Given the description of an element on the screen output the (x, y) to click on. 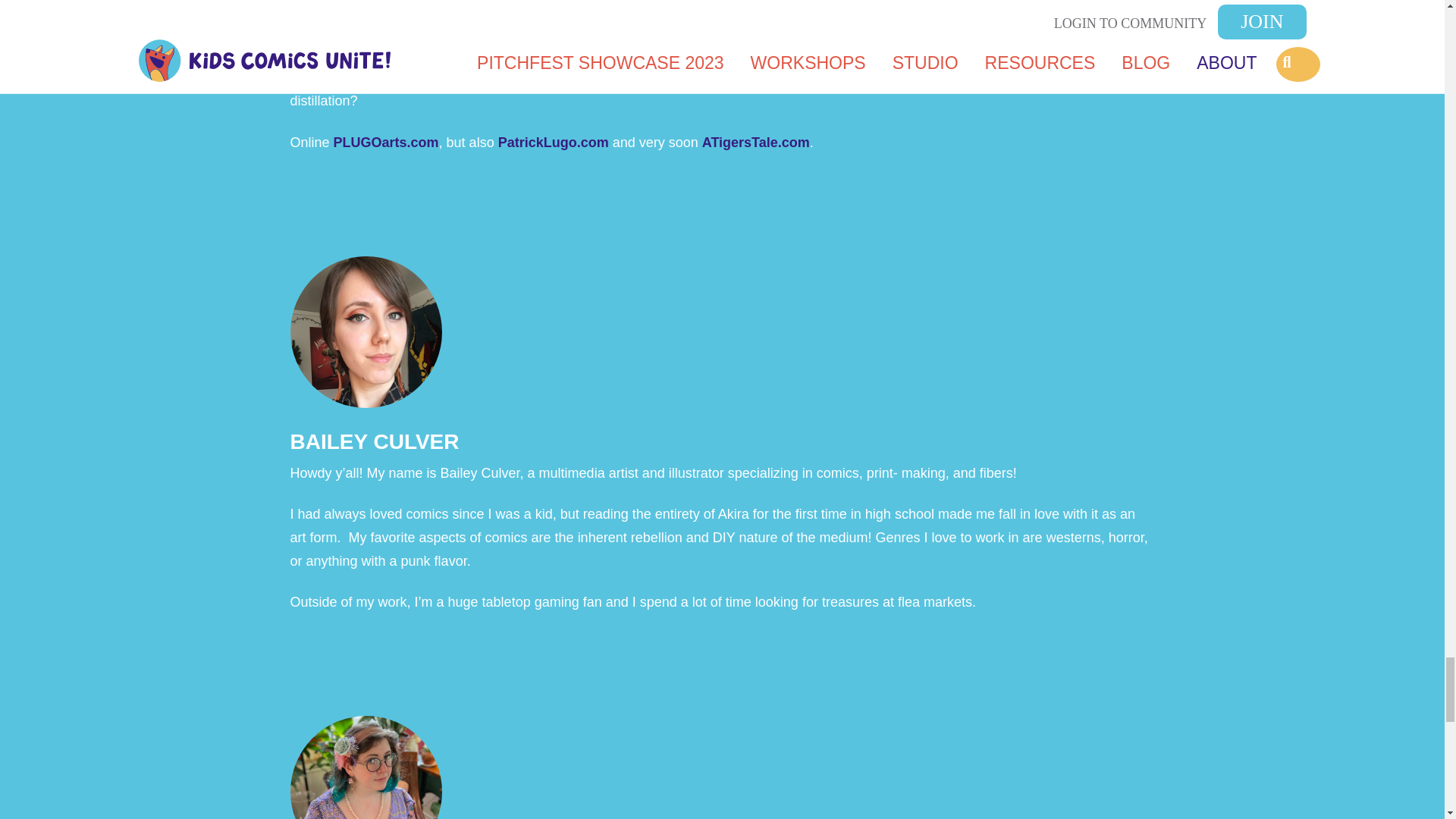
PLUGOarts.com (386, 142)
PatrickLugo.com (552, 142)
